Given the description of an element on the screen output the (x, y) to click on. 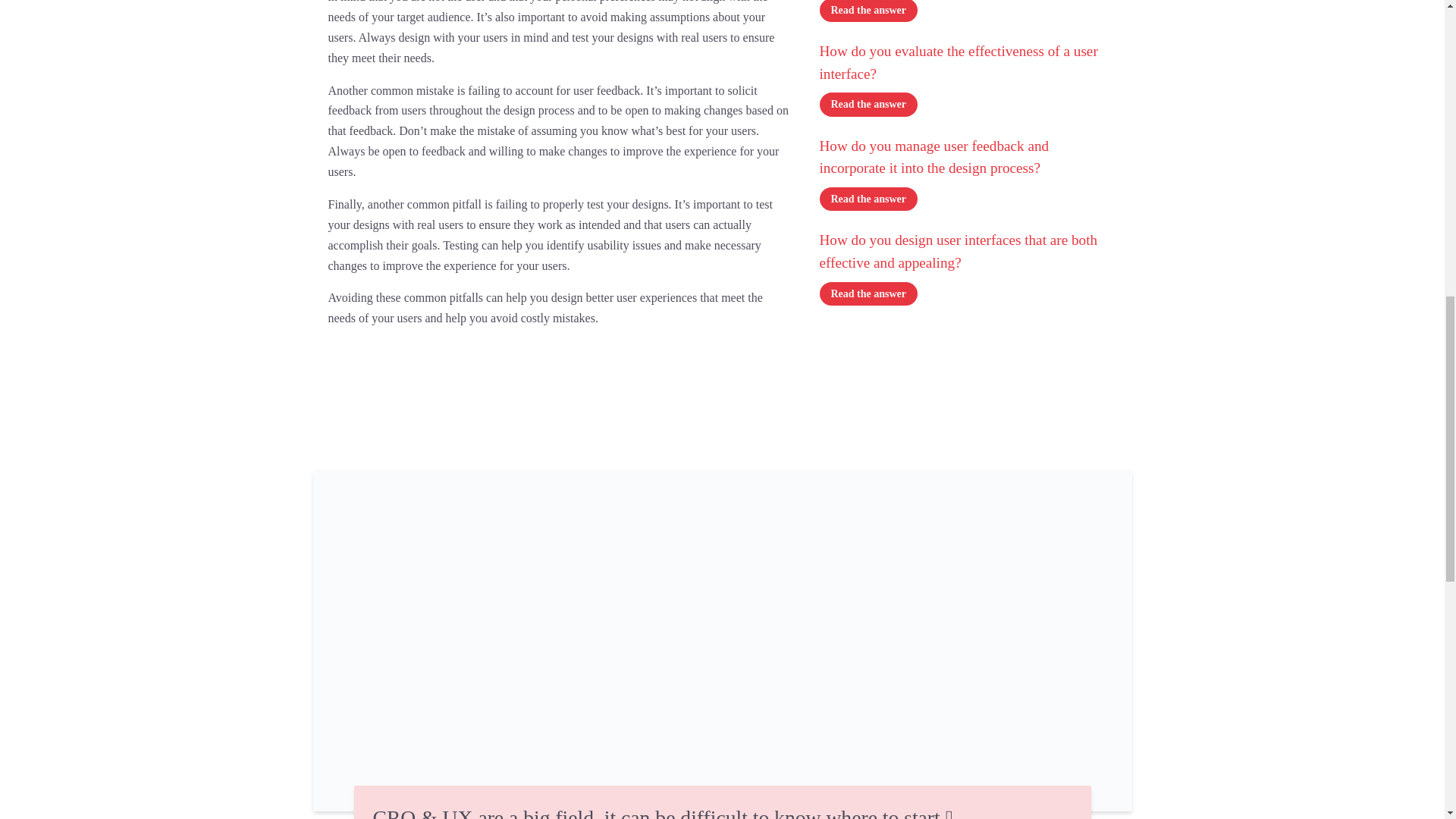
Read the answer (867, 293)
Read the answer (867, 199)
Read the answer (867, 11)
How do you evaluate the effectiveness of a user interface? (967, 66)
Read the answer (867, 104)
